Given the description of an element on the screen output the (x, y) to click on. 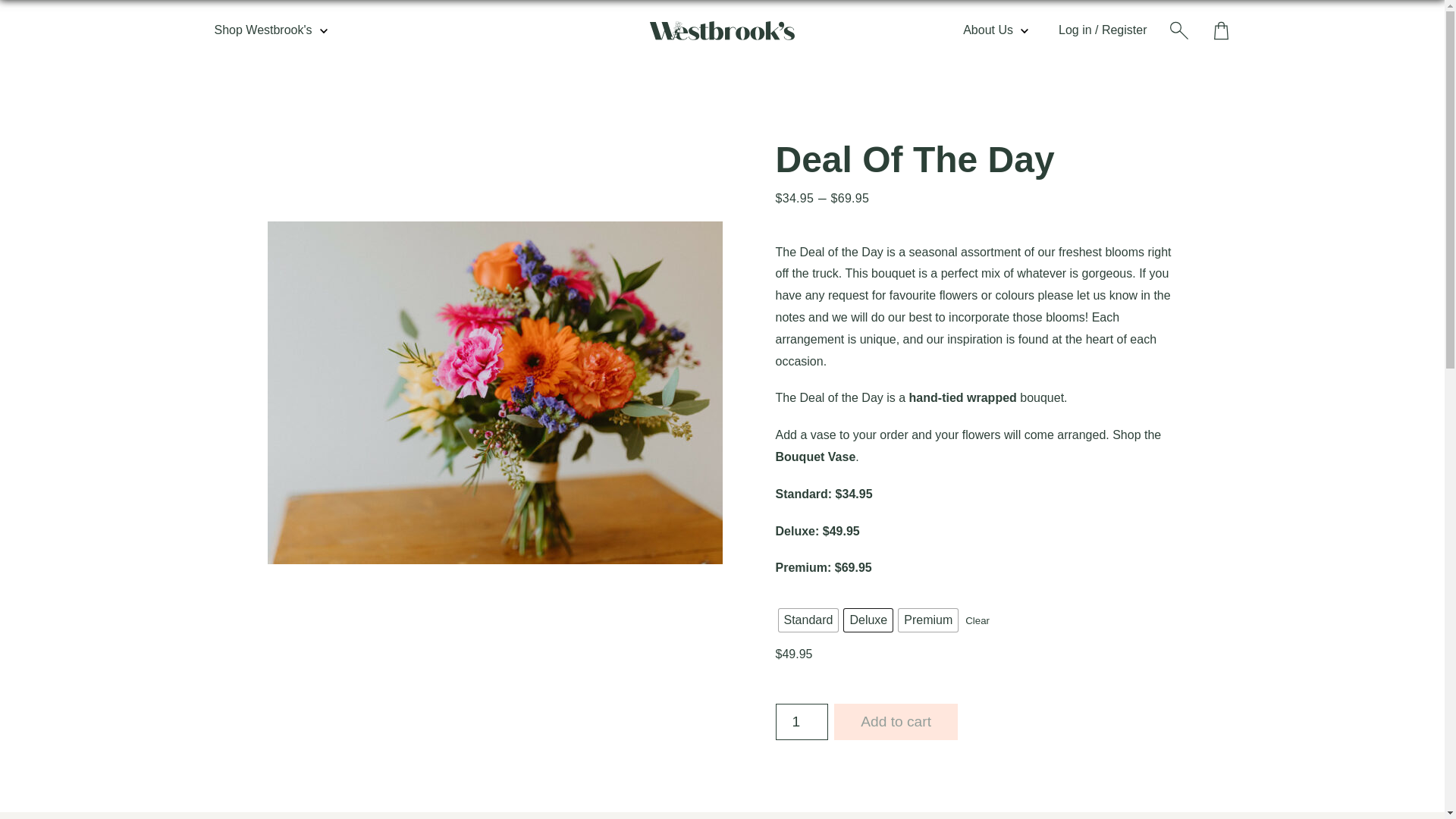
Standard (807, 620)
Shop Westbrook's (270, 30)
Deluxe (868, 620)
1 (801, 721)
Premium (928, 620)
About Us (995, 30)
